Given the description of an element on the screen output the (x, y) to click on. 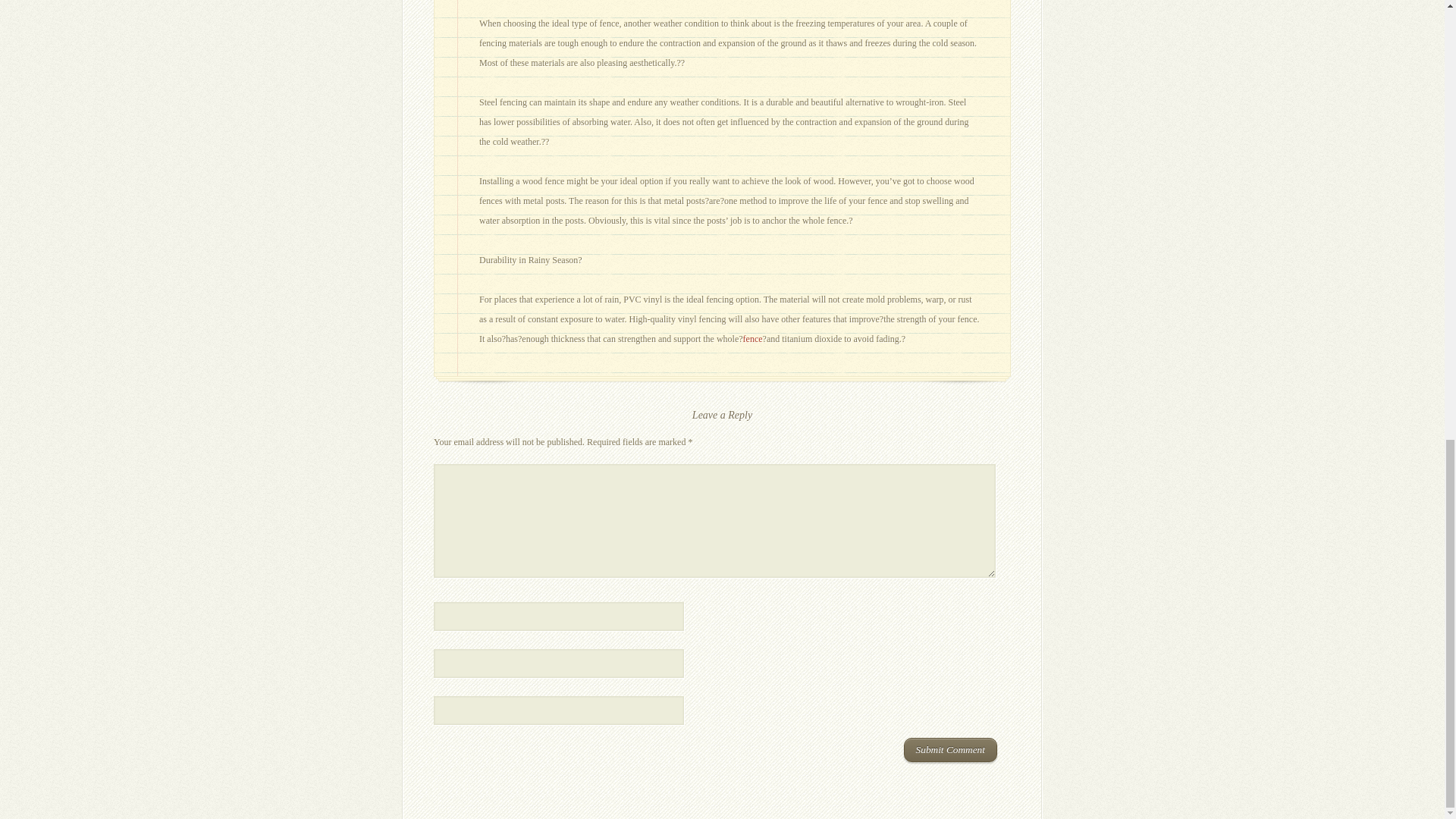
fence (752, 338)
Submit Comment (950, 749)
Submit Comment (950, 749)
